Given the description of an element on the screen output the (x, y) to click on. 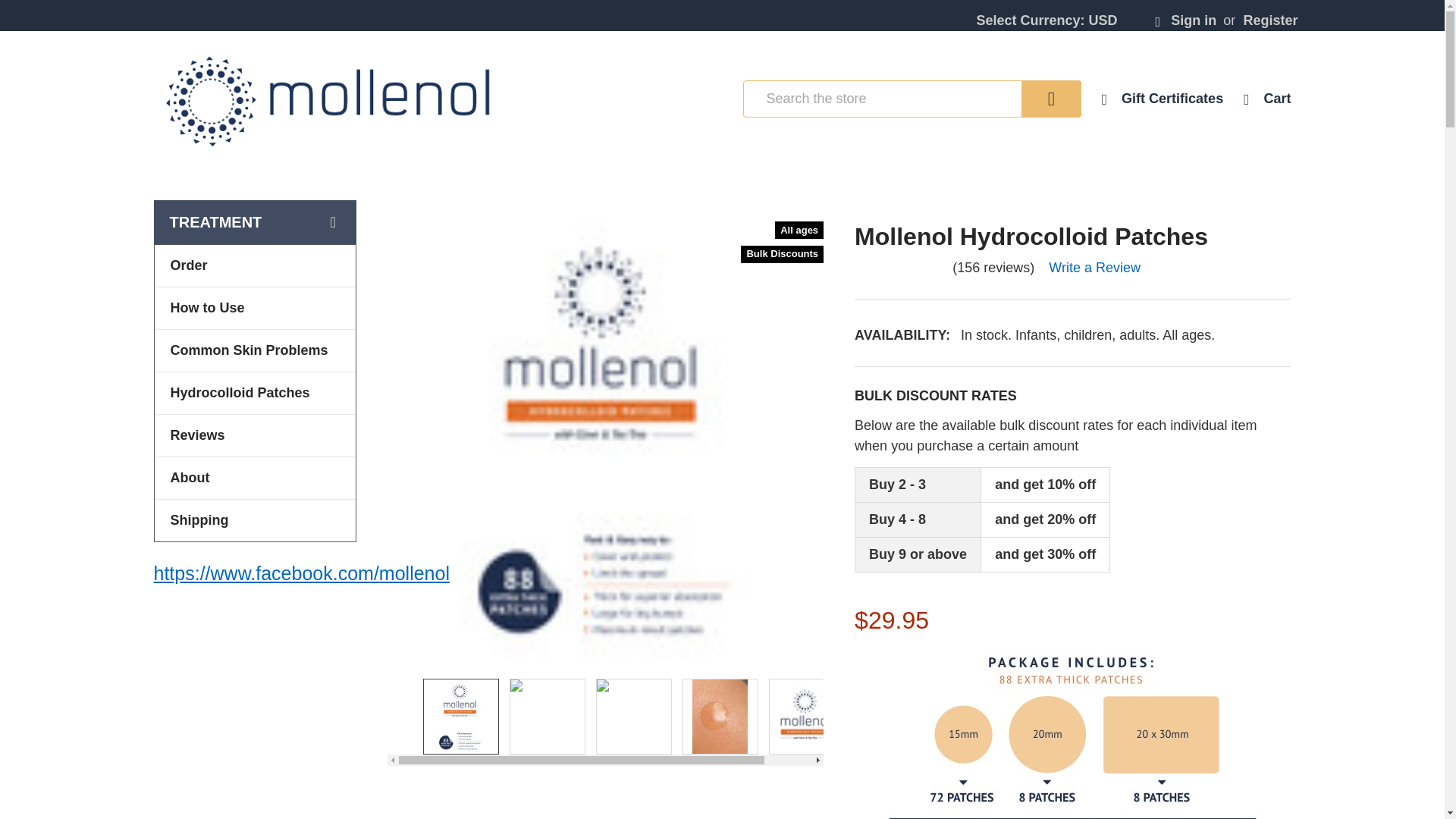
TREATMENT (253, 221)
Cart (1266, 98)
Gift Certificates (1172, 98)
Mollenol (324, 98)
Big, thick hydrocolloid patches. (719, 716)
Register (1270, 15)
Cart (1266, 98)
